Given the description of an element on the screen output the (x, y) to click on. 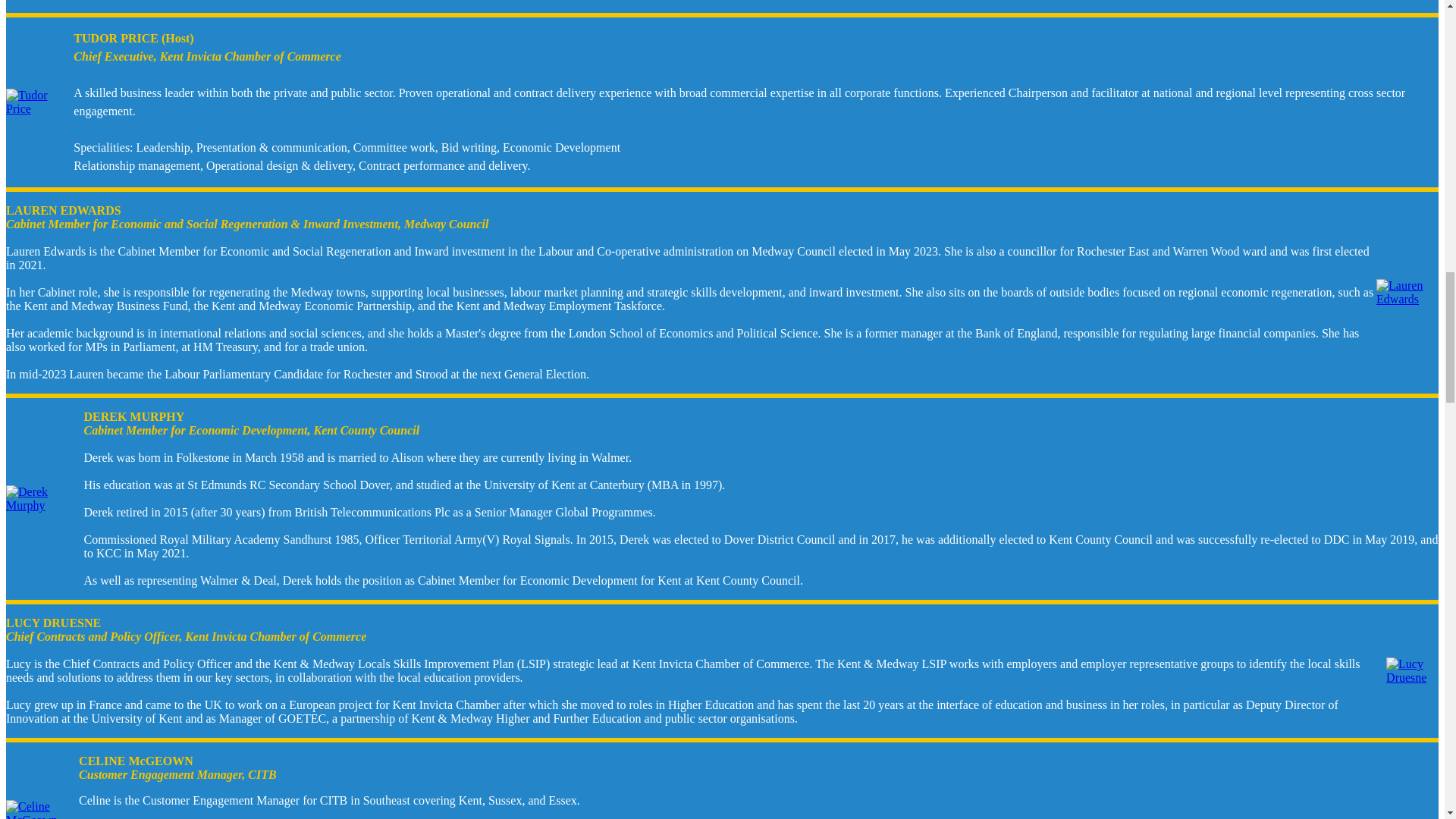
Celine McGeown (41, 809)
Tudor Price (39, 102)
Derek Murphy (43, 498)
